Given the description of an element on the screen output the (x, y) to click on. 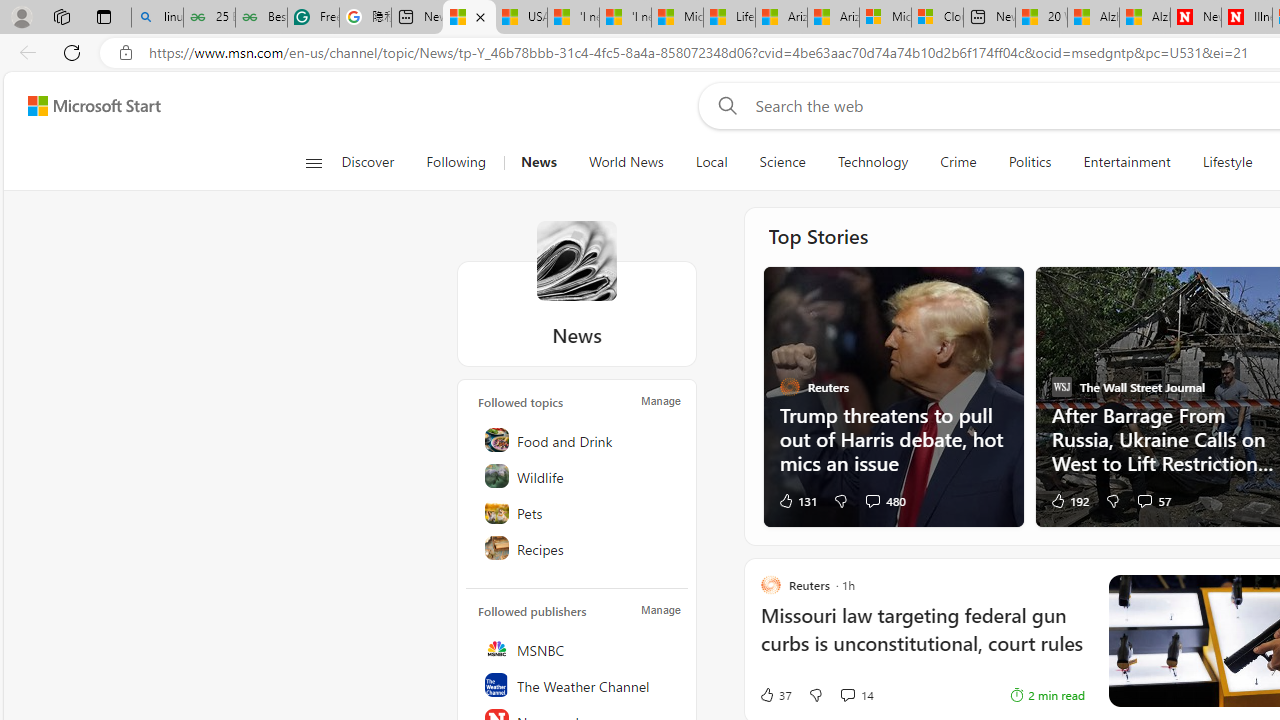
USA TODAY - MSN (520, 17)
Newsweek - News, Analysis, Politics, Business, Technology (1196, 17)
37 Like (775, 695)
MSNBC (578, 648)
